Given the description of an element on the screen output the (x, y) to click on. 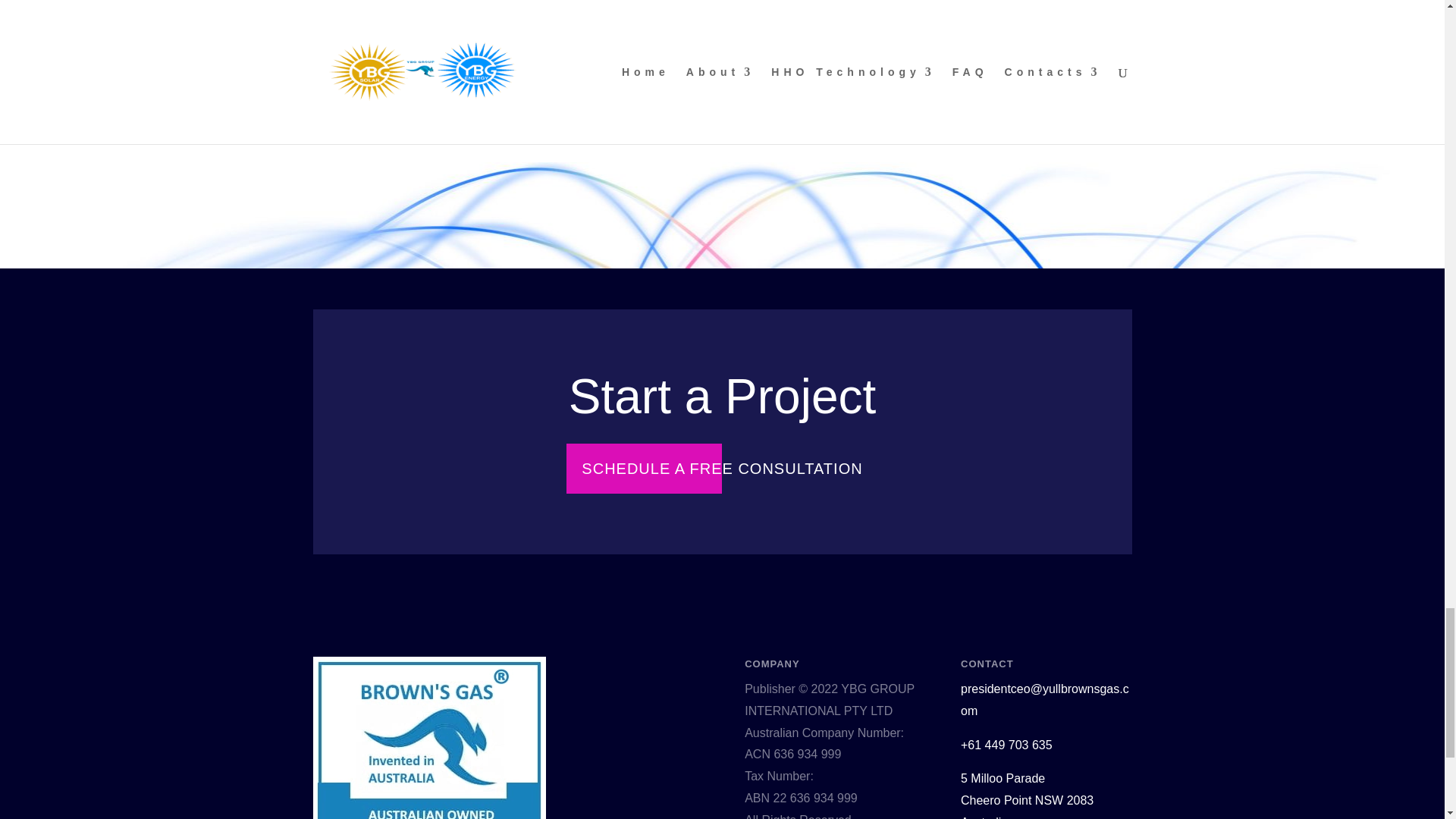
ybg-logo-large (428, 737)
ROI (505, 69)
SCHEDULE A FREE CONSULTATION (721, 468)
